Given the description of an element on the screen output the (x, y) to click on. 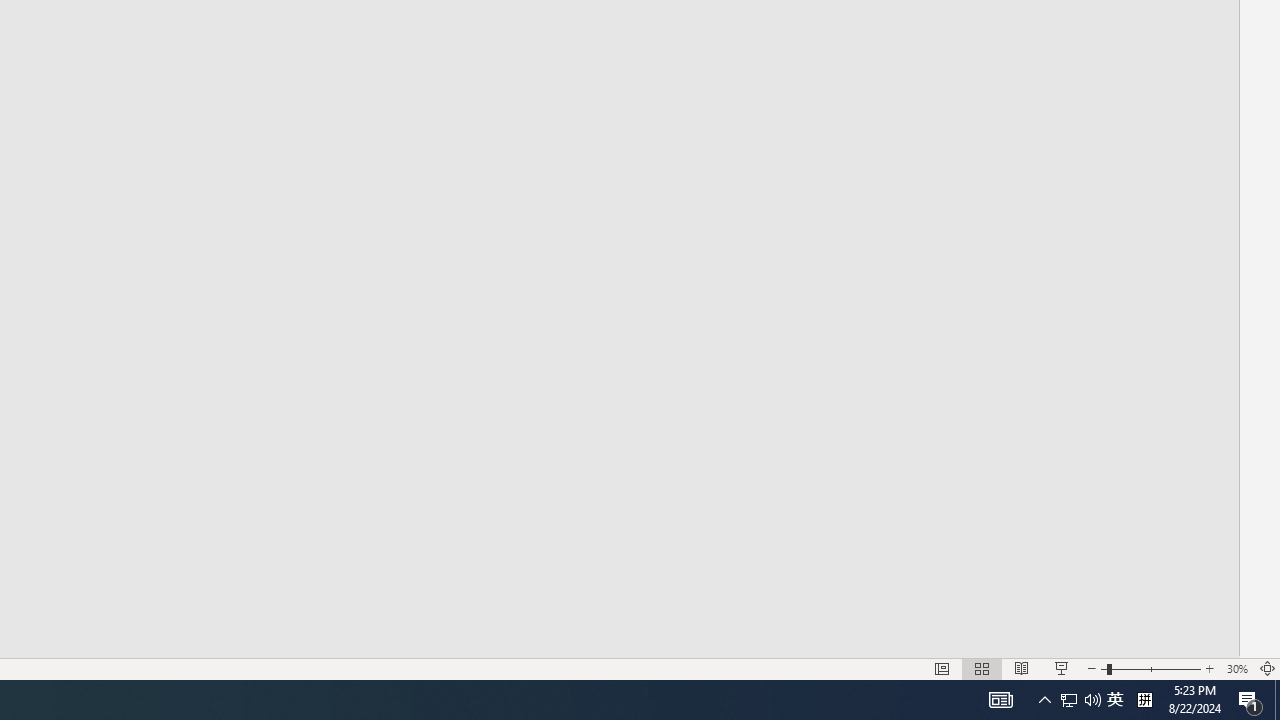
Zoom 30% (1236, 668)
